Given the description of an element on the screen output the (x, y) to click on. 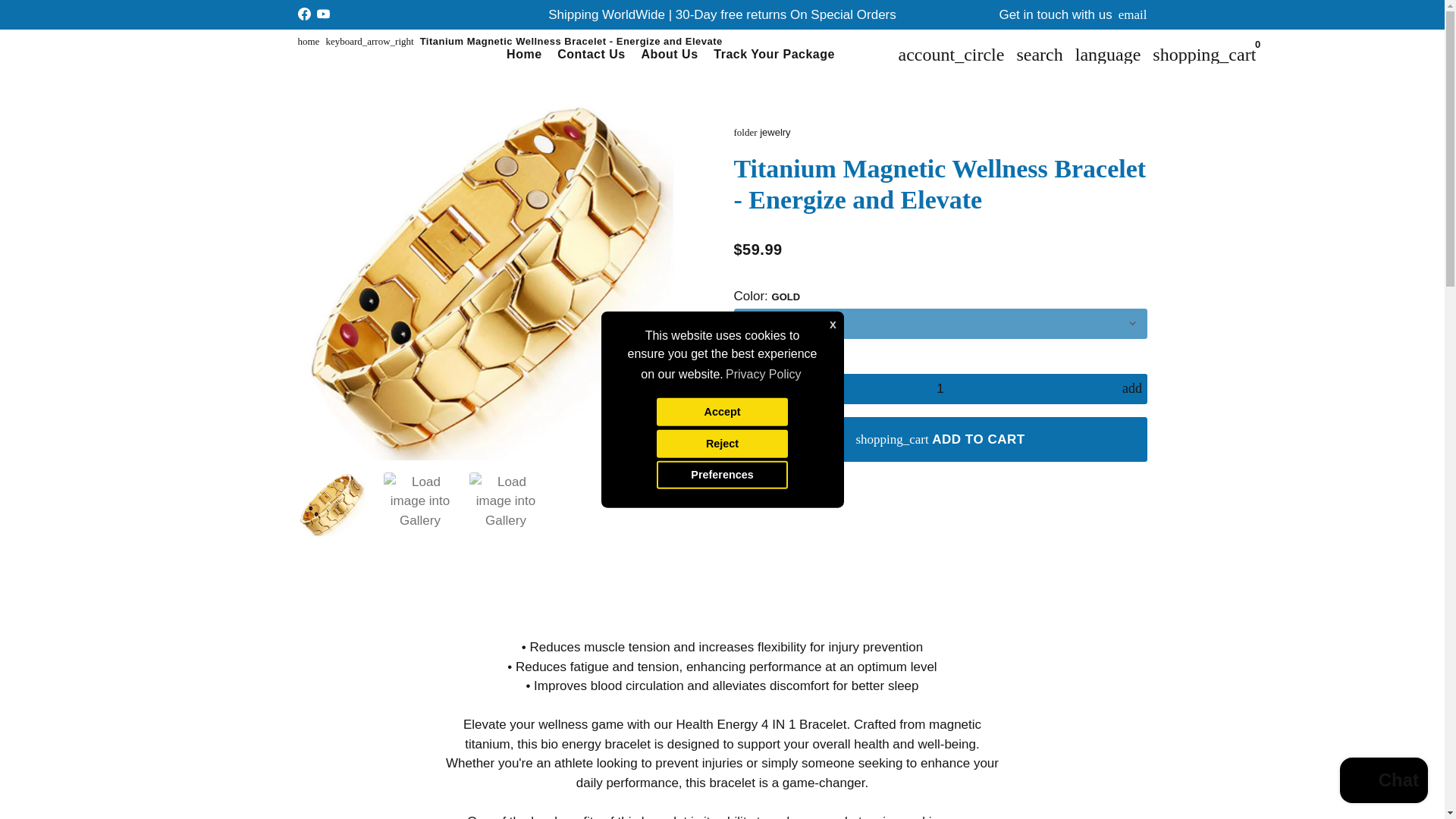
Search (1039, 54)
Home (523, 54)
Titanium Magnetic Wellness Bracelet - Energize and Elevate (571, 41)
Shopify online store chat (1383, 781)
 Magnetic Simplicity on Facebook (303, 14)
home (307, 41)
Track Your Package (774, 54)
search (1039, 54)
Log In (950, 54)
